Given the description of an element on the screen output the (x, y) to click on. 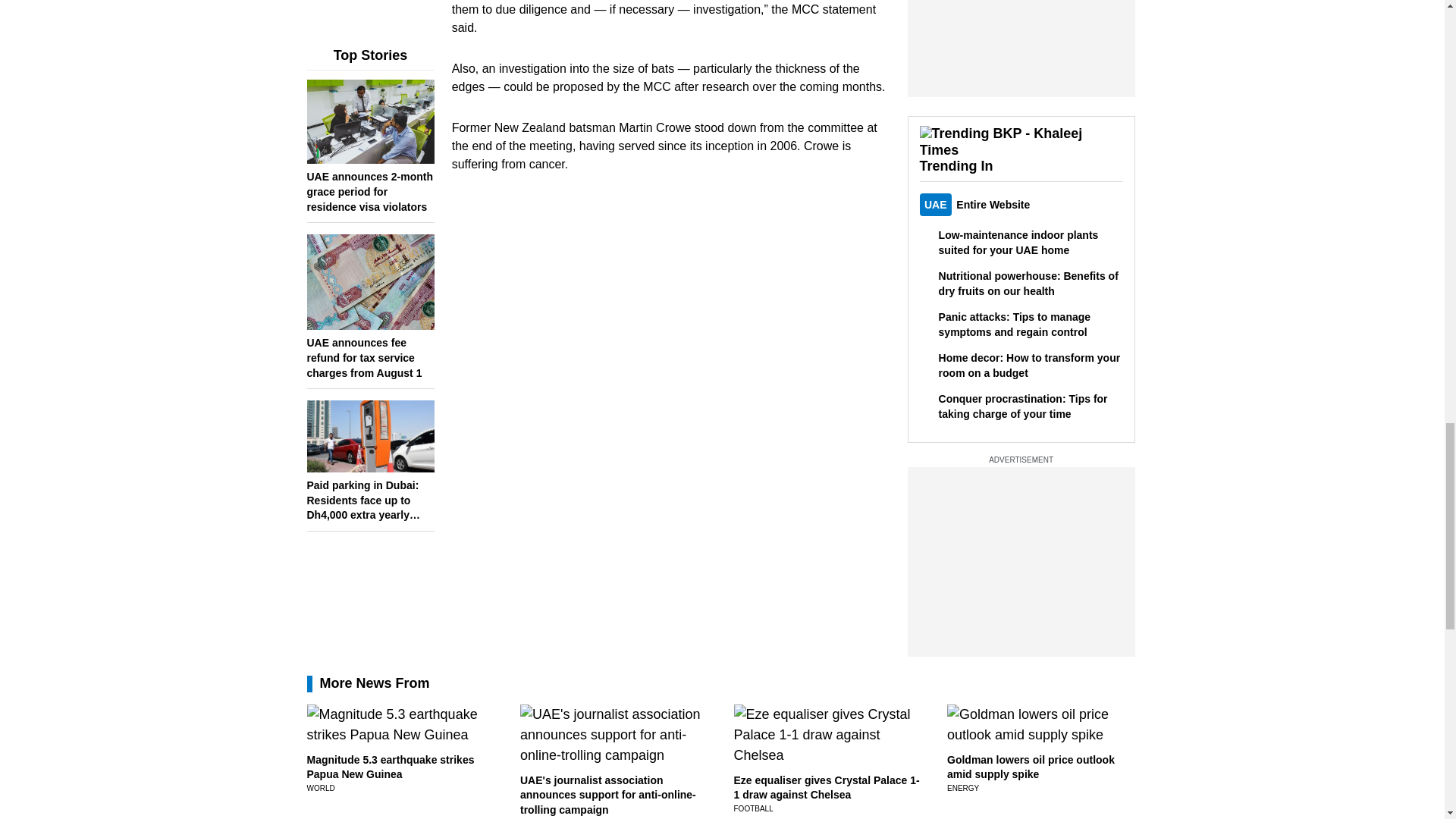
Eze equaliser gives Crystal Palace 1-1 draw against Chelsea (826, 787)
Goldman lowers oil price outlook amid supply spike (1031, 767)
Magnitude 5.3 earthquake strikes Papua New Guinea (389, 767)
